Given the description of an element on the screen output the (x, y) to click on. 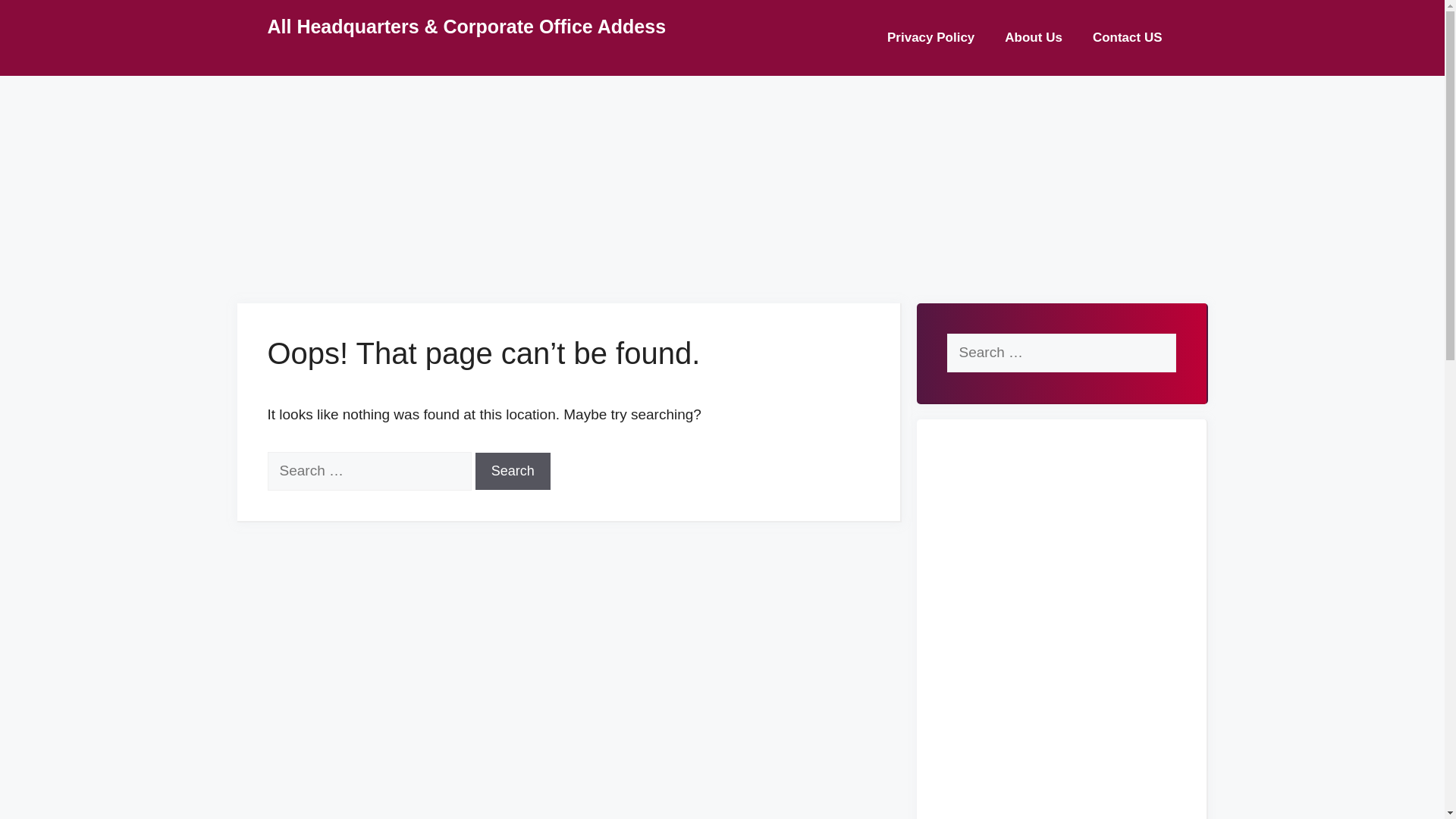
About Us (1033, 37)
Search for: (368, 471)
Search (513, 470)
Search (37, 18)
Privacy Policy (931, 37)
Search (513, 470)
Search (513, 470)
Search for: (1060, 352)
Contact US (1127, 37)
